Given the description of an element on the screen output the (x, y) to click on. 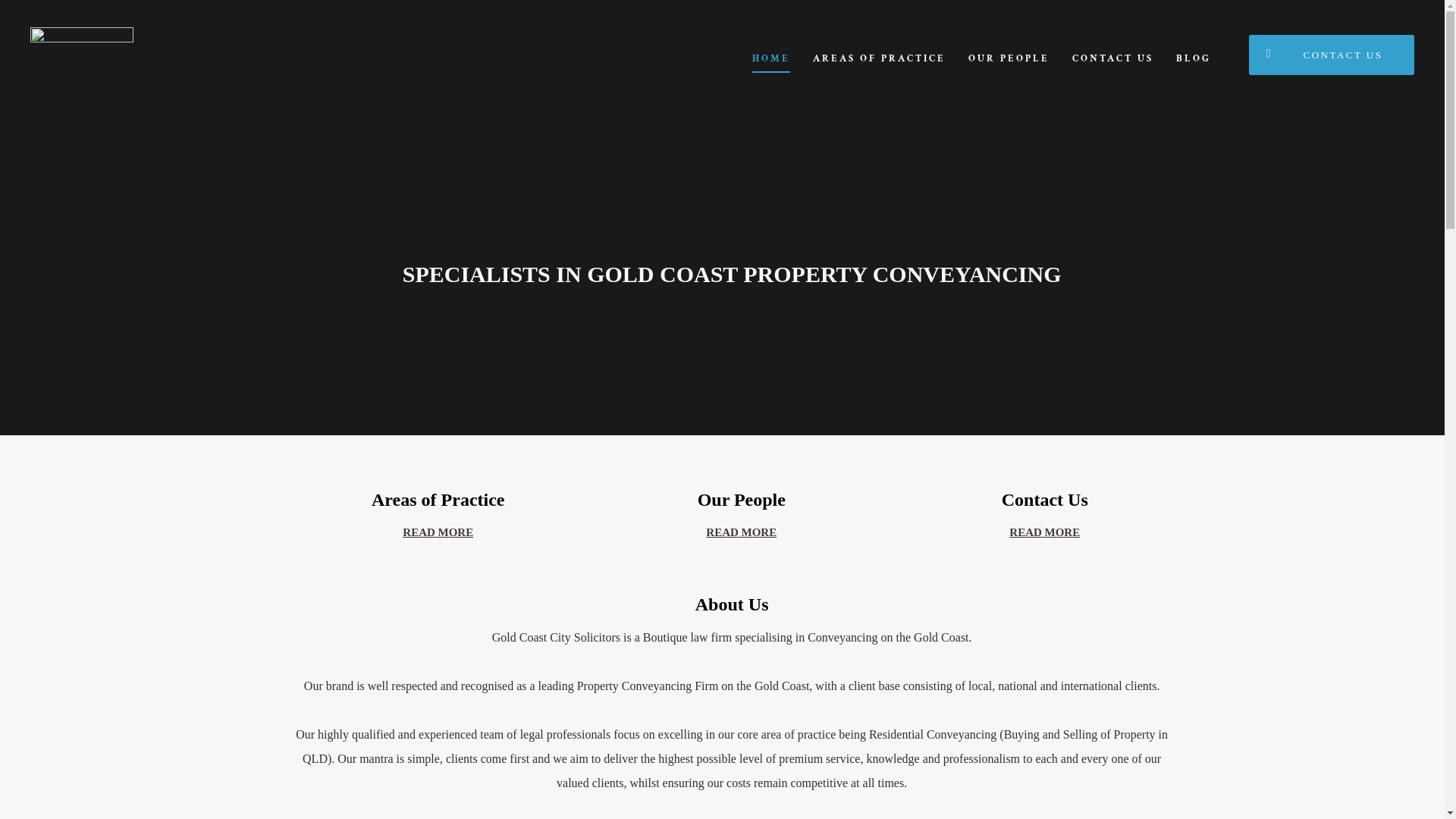
BLOG Element type: text (1193, 59)
AREAS OF PRACTICE Element type: text (879, 59)
OUR PEOPLE Element type: text (1008, 59)
READ MORE Element type: text (437, 532)
CONTACT US Element type: text (1112, 59)
READ MORE Element type: text (1044, 532)
CONTACT US Element type: text (1331, 54)
HOME Element type: text (770, 59)
READ MORE Element type: text (741, 532)
